Given the description of an element on the screen output the (x, y) to click on. 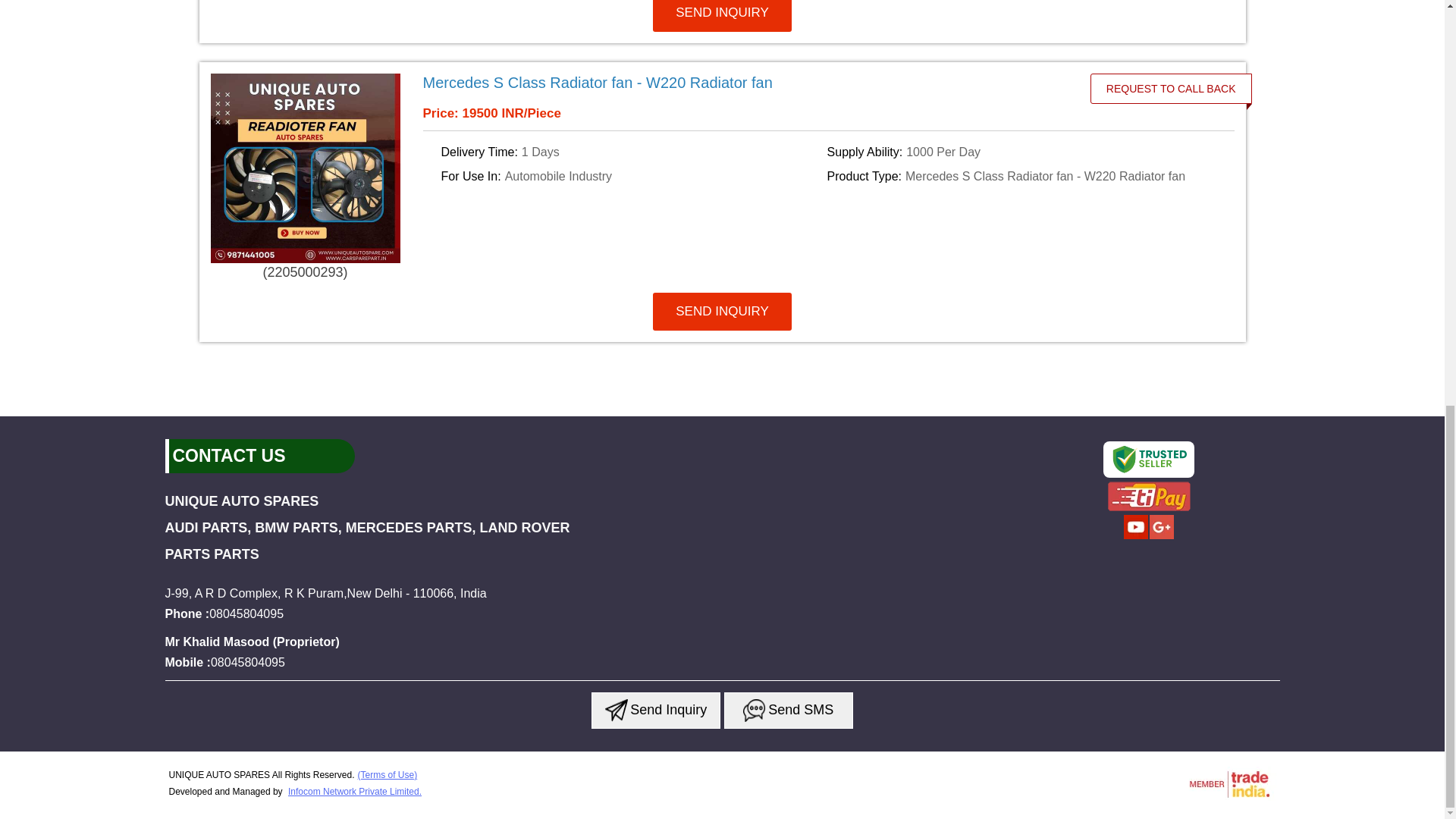
Send Inquiry (616, 710)
Supply Ability: 1000 Per Day (1017, 152)
Google Plus (1161, 537)
Send Inquiry (753, 710)
Delivery Time: 1 Days (631, 152)
Mercedes S Class Radiator fan - W220 Radiator fan (747, 82)
You Tube (1136, 537)
For Use In: Automobile Industry (631, 176)
